Given the description of an element on the screen output the (x, y) to click on. 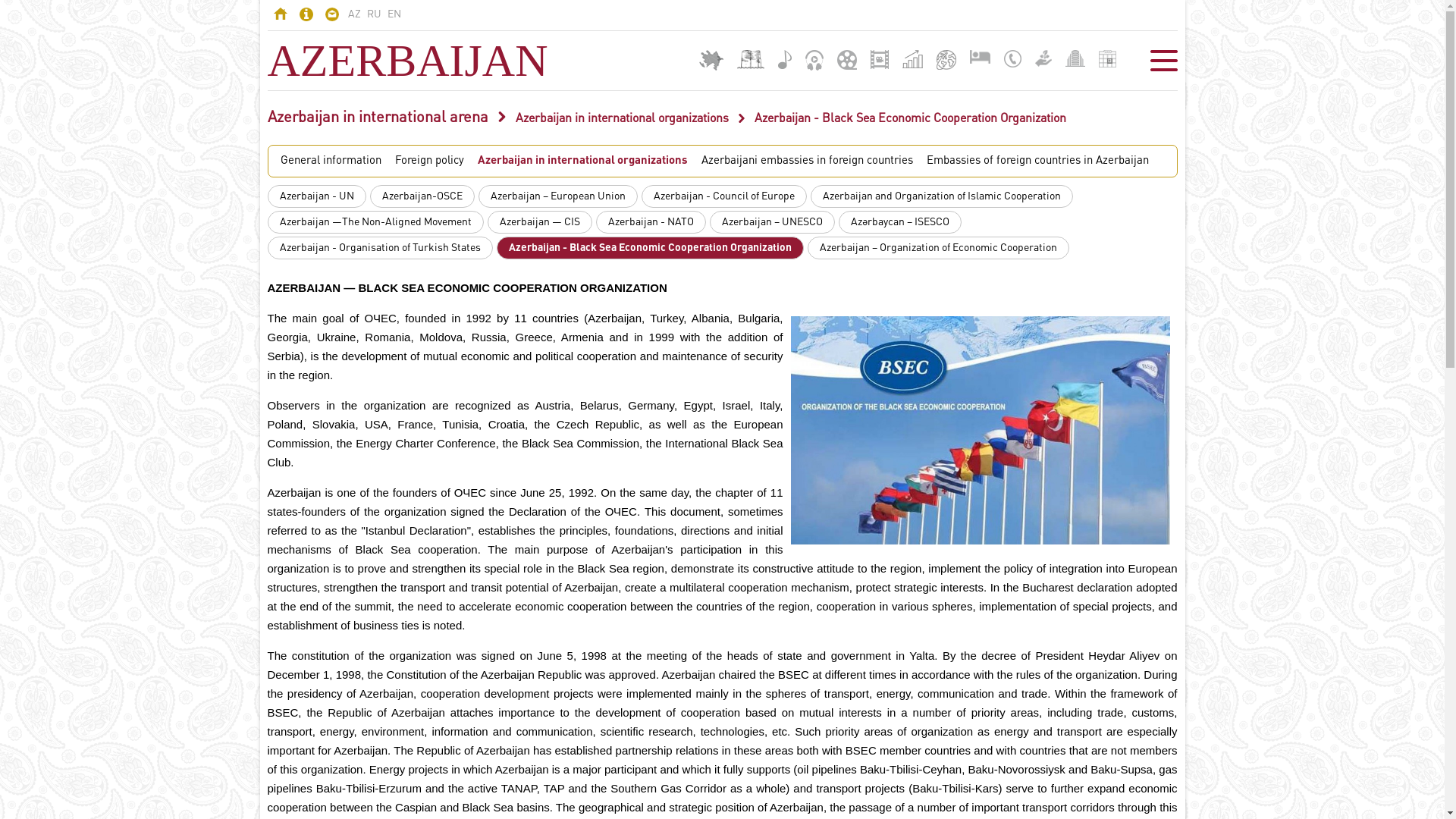
General information Element type: text (330, 160)
Azerbaijan-OSCE Element type: text (422, 196)
Azerbaijan - NATO Element type: text (650, 222)
Azerbaijan - UN Element type: text (316, 196)
Maps Element type: hover (912, 59)
Foreign policy Element type: text (428, 160)
Azerbaijani embassies in foreign countries Element type: text (806, 160)
All sections Element type: hover (1162, 60)
Animation films Element type: hover (846, 59)
Music Element type: hover (784, 59)
Main page Element type: hover (279, 15)
EN Element type: text (393, 14)
Embassies of foreign countries in Azerbaijan Element type: text (1037, 160)
Azerbaijan in international organizations Element type: text (582, 160)
Cinema Element type: hover (879, 59)
Phone and postal codes Element type: hover (1012, 58)
Nature Element type: hover (1042, 58)
About Element type: hover (305, 16)
AZ Element type: text (353, 14)
Azerbaijan - Council of Europe Element type: text (723, 196)
Azerbaijan - Black Sea Economic Cooperation Organization Element type: text (649, 247)
Audio books Element type: hover (814, 60)
Azerbaijan - Organisation of Turkish States Element type: text (379, 247)
Contact Element type: hover (331, 16)
Azerbaijan in international organizations Element type: text (621, 118)
Azerbaijan and Organization of Islamic Cooperation Element type: text (941, 196)
Hotels Element type: hover (979, 56)
Azerbaijan in international arena Element type: text (376, 117)
Holidays Element type: hover (1106, 58)
Interactive map Element type: hover (711, 60)
Tourism Element type: hover (945, 59)
RU Element type: text (374, 14)
Architecture Element type: hover (1074, 58)
Baku Element type: hover (750, 59)
